Given the description of an element on the screen output the (x, y) to click on. 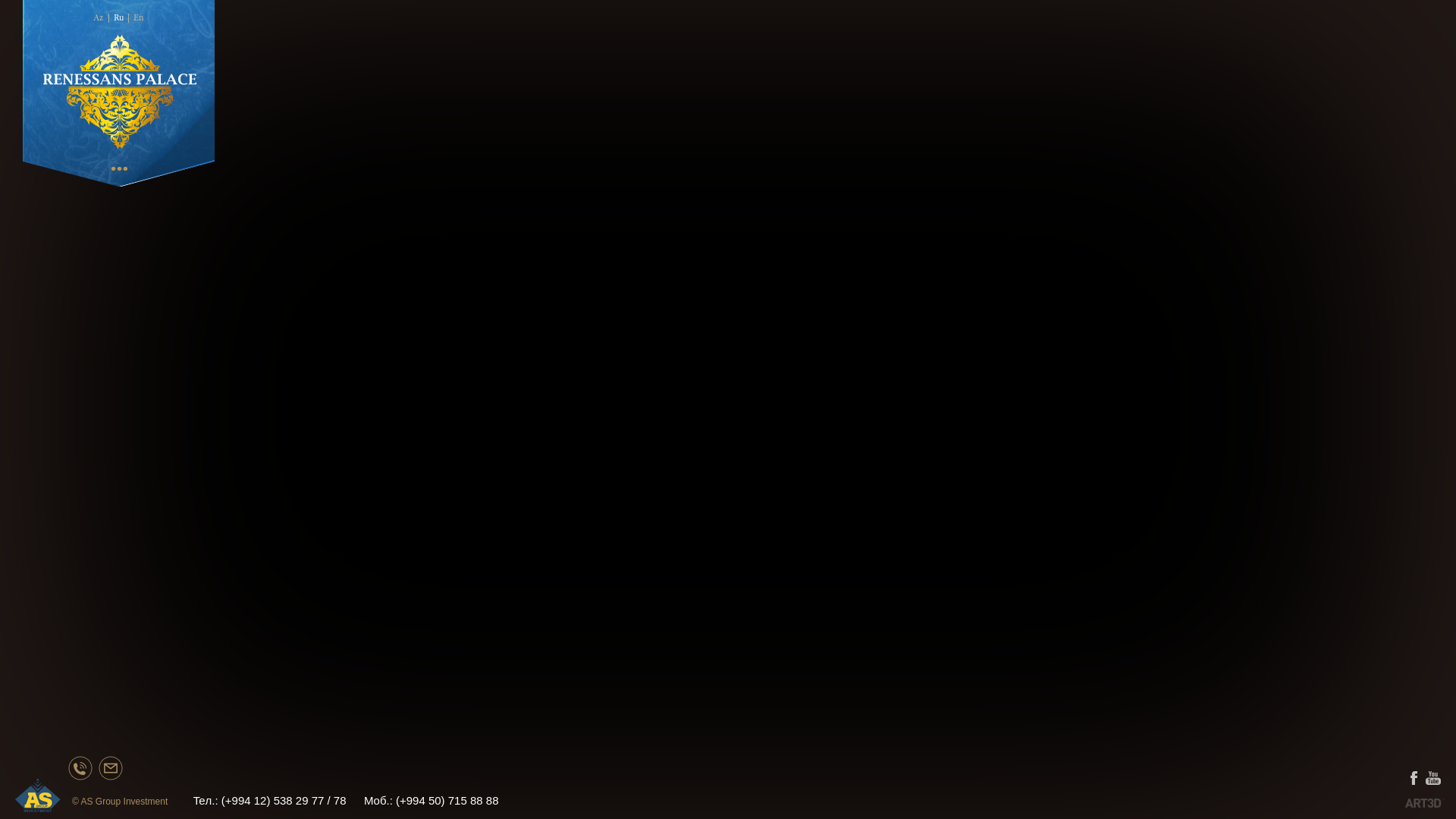
En Element type: text (138, 17)
Az Element type: text (98, 17)
